Given the description of an element on the screen output the (x, y) to click on. 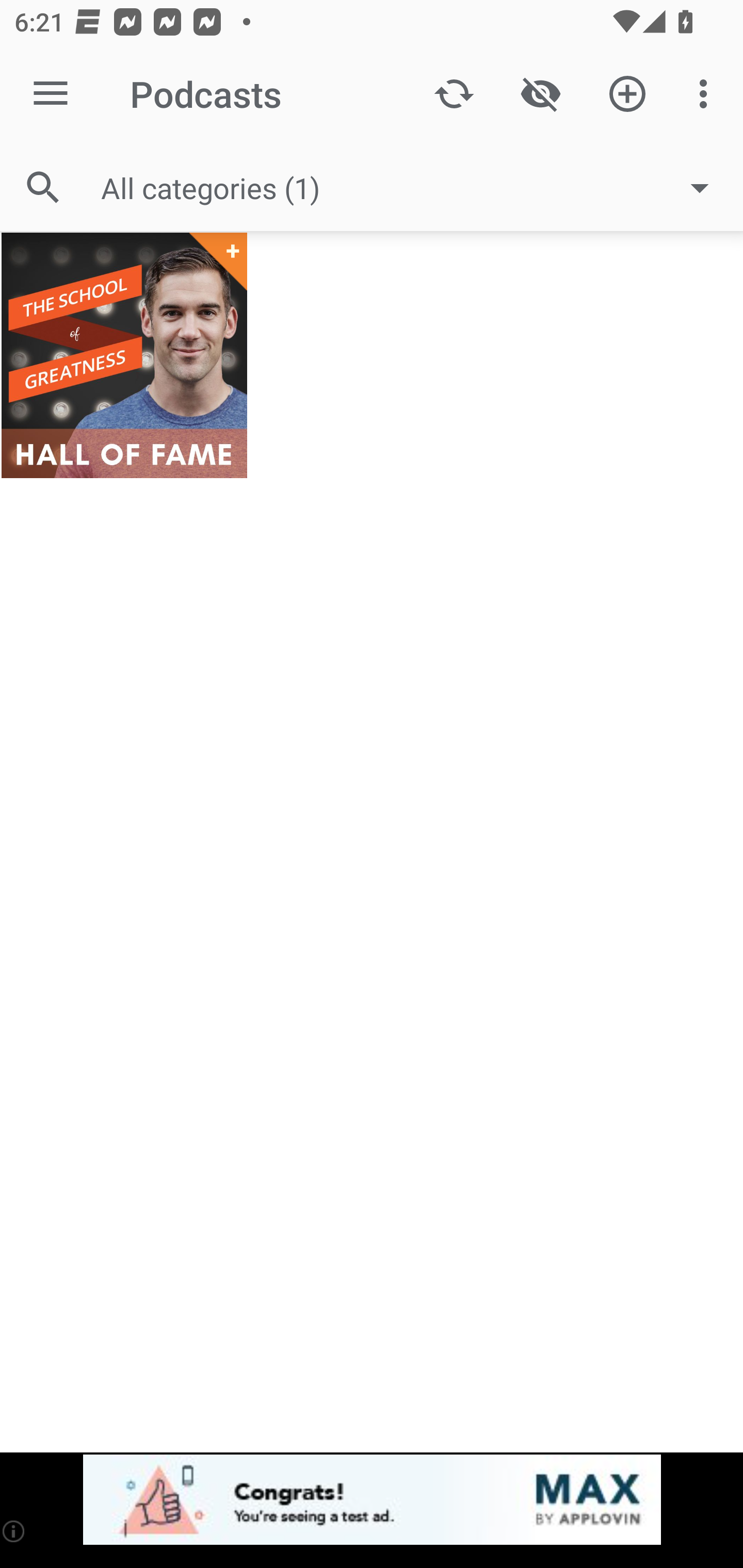
Open navigation sidebar (50, 93)
Update (453, 93)
Show / Hide played content (540, 93)
Add new Podcast (626, 93)
More options (706, 93)
Search (43, 187)
All categories (1) (414, 188)
The School of Greatness Hall of Fame + (124, 355)
app-monetization (371, 1500)
(i) (14, 1531)
